Given the description of an element on the screen output the (x, y) to click on. 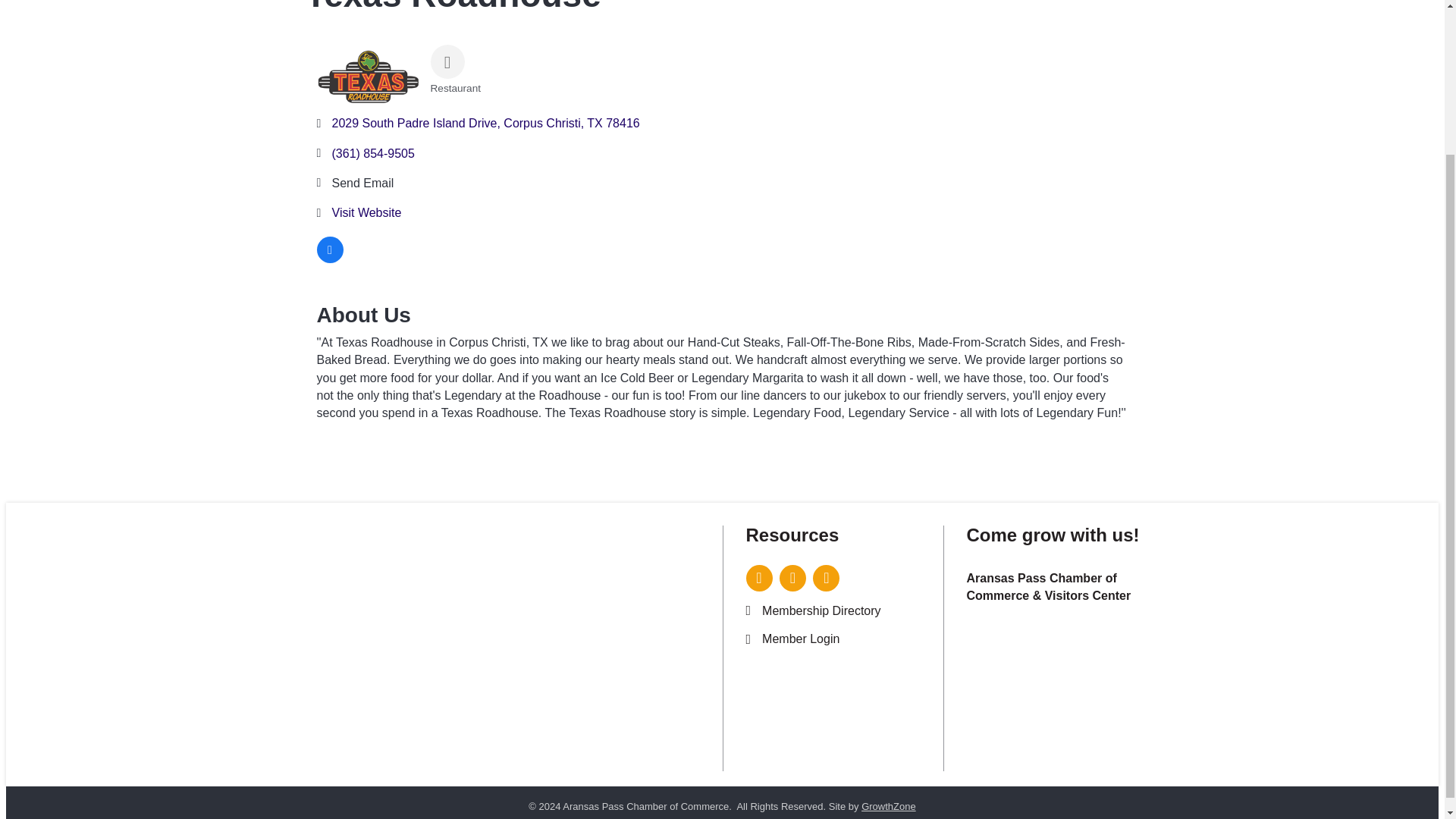
Texas Roadhouse (368, 76)
Send Email (362, 183)
2029 South Padre Island Drive Corpus Christi TX 78416 (485, 123)
APCOC Logo New-w200 (587, 592)
View on Facebook (330, 258)
